Given the description of an element on the screen output the (x, y) to click on. 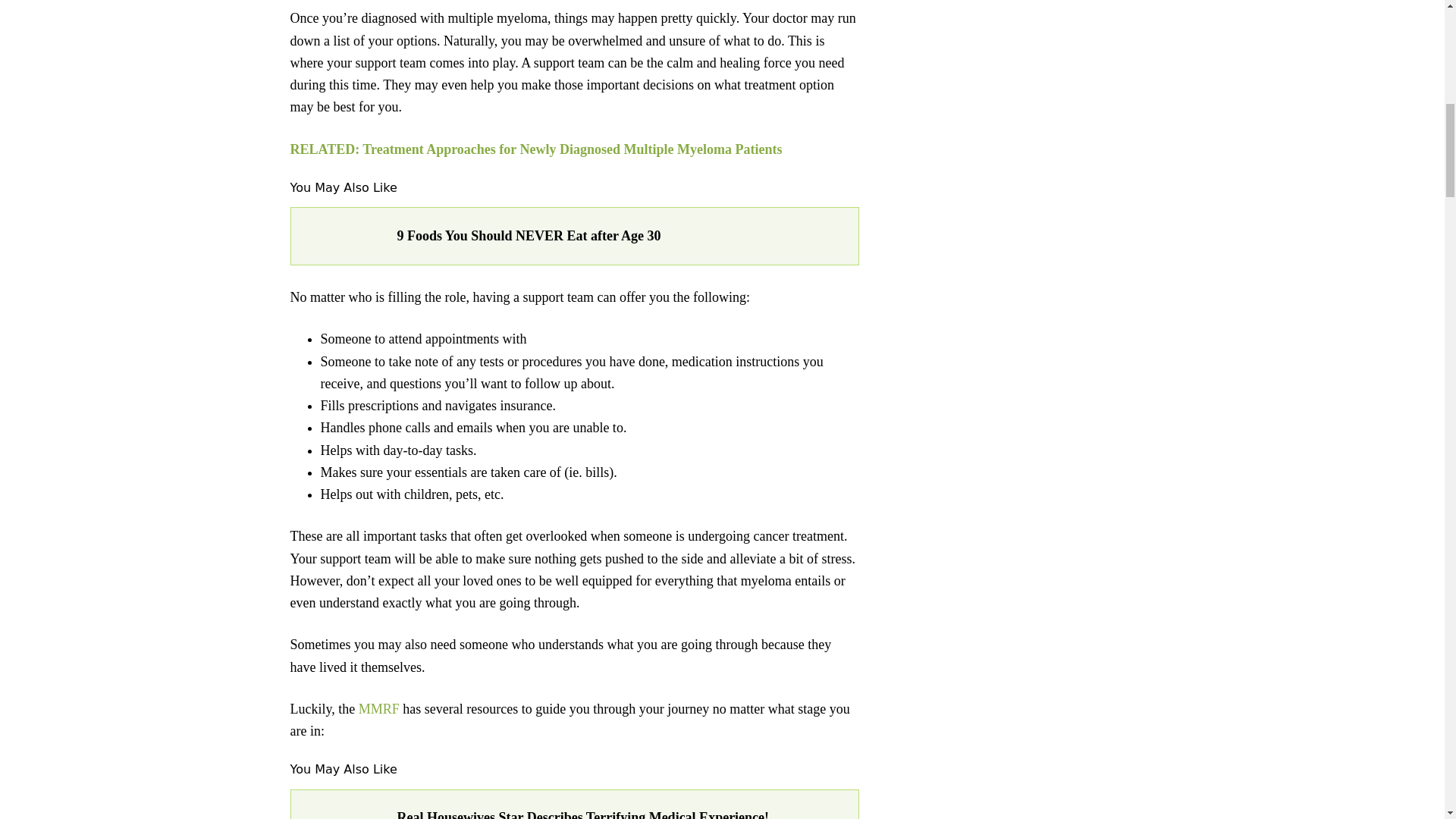
MMRF (378, 708)
9 Foods You Should NEVER Eat after Age 30 (620, 236)
